Given the description of an element on the screen output the (x, y) to click on. 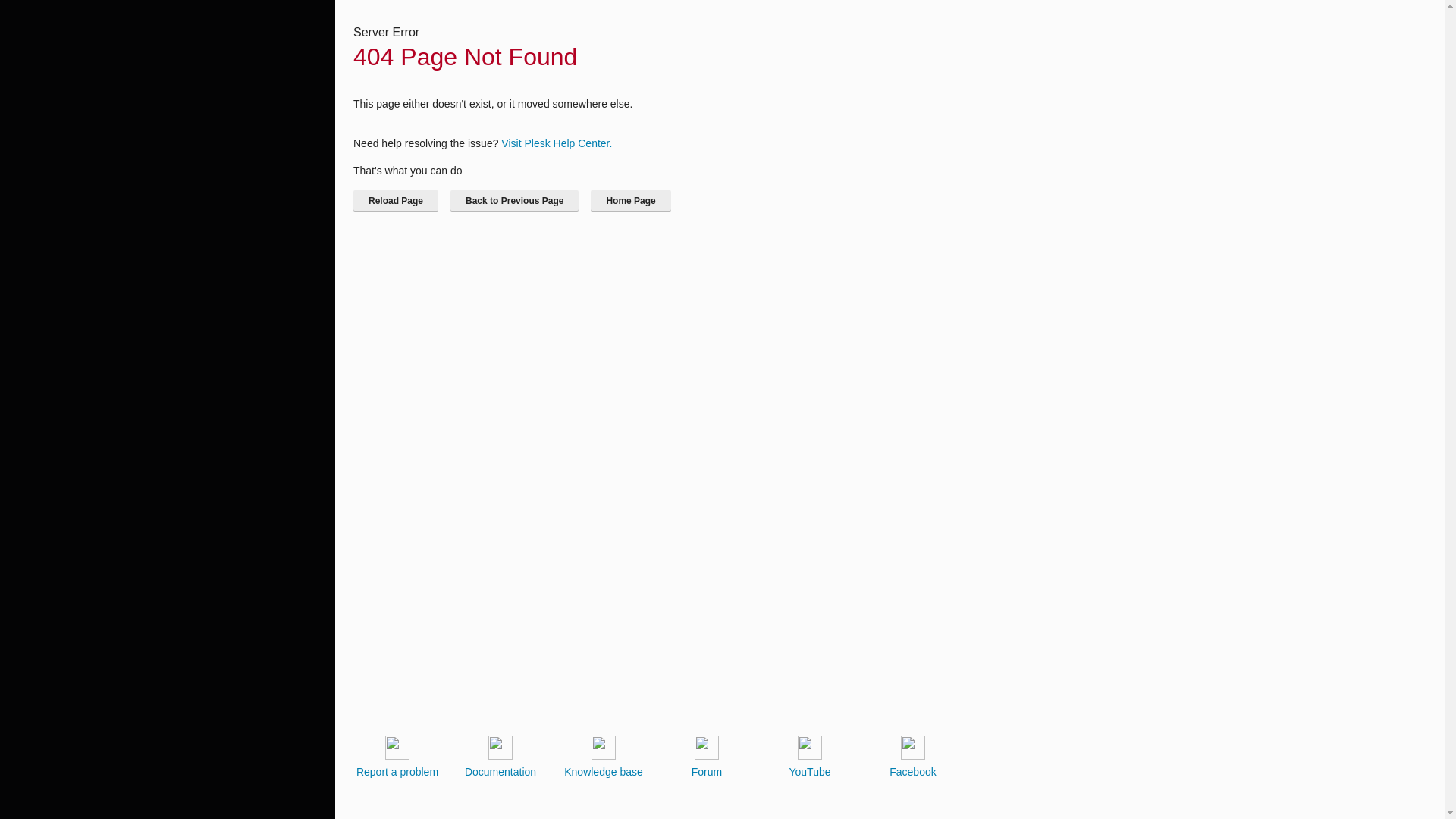
Documentation (500, 757)
Knowledge base (603, 757)
Forum (706, 757)
Facebook (912, 757)
YouTube (809, 757)
Home Page (630, 200)
Back to Previous Page (513, 200)
Report a problem (397, 757)
Visit Plesk Help Center. (555, 143)
Reload Page (395, 200)
